Given the description of an element on the screen output the (x, y) to click on. 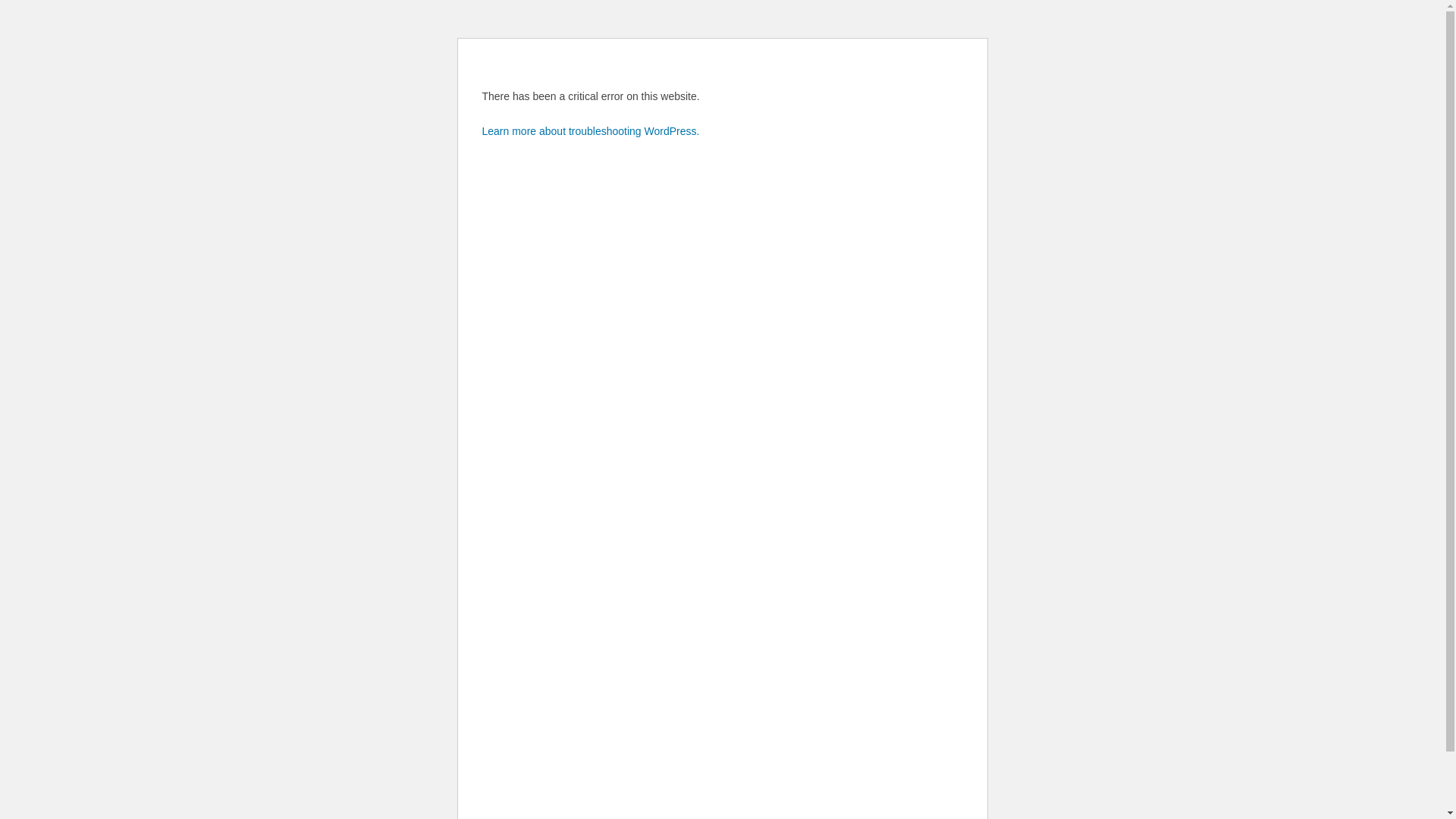
Learn more about troubleshooting WordPress. Element type: text (590, 131)
